Given the description of an element on the screen output the (x, y) to click on. 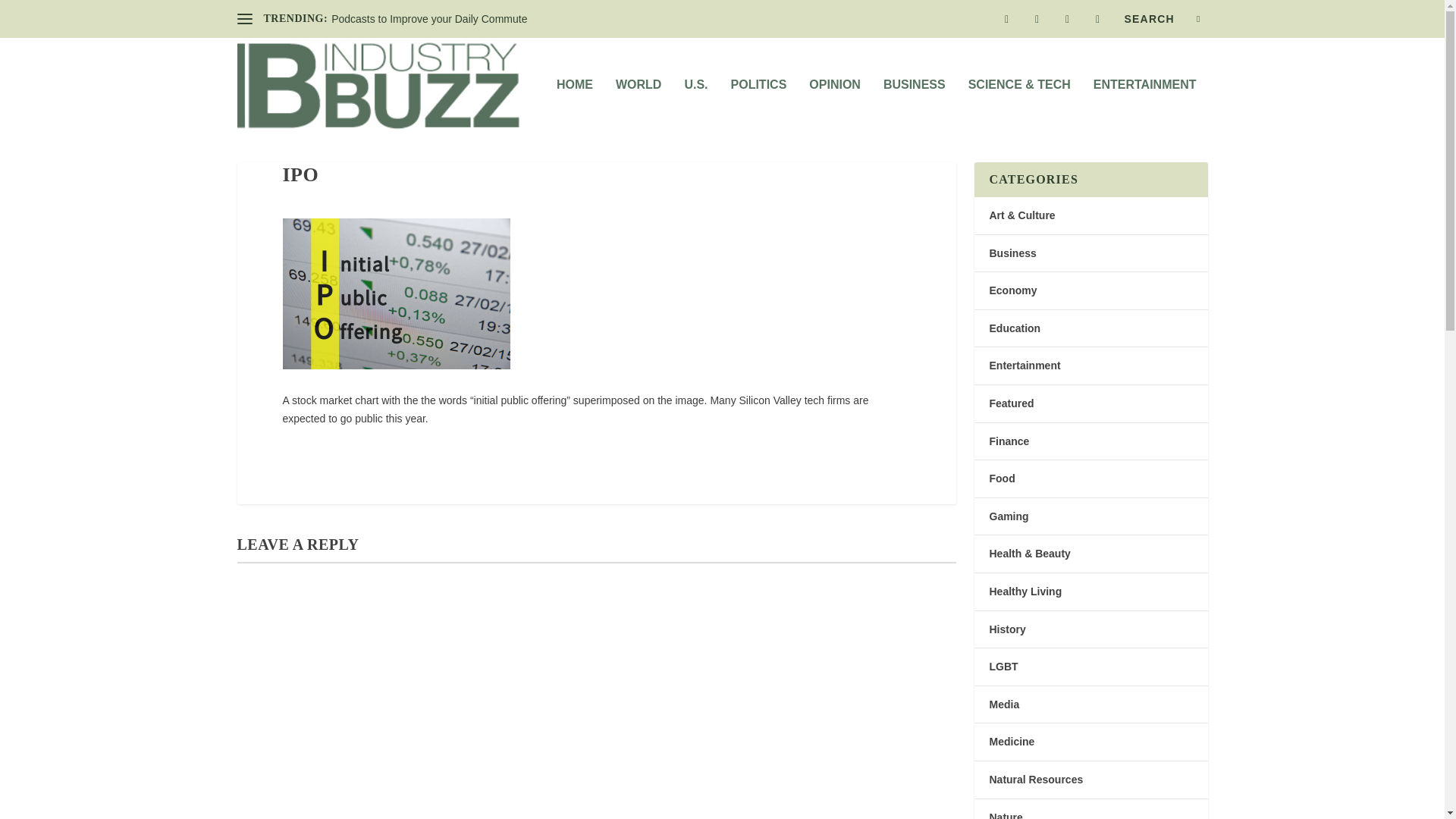
Economy (1012, 290)
Nature (1005, 815)
Search for: (1161, 18)
POLITICS (758, 104)
Entertainment (1023, 365)
Business (1011, 253)
Featured (1010, 403)
Media (1003, 704)
Natural Resources (1035, 779)
